Given the description of an element on the screen output the (x, y) to click on. 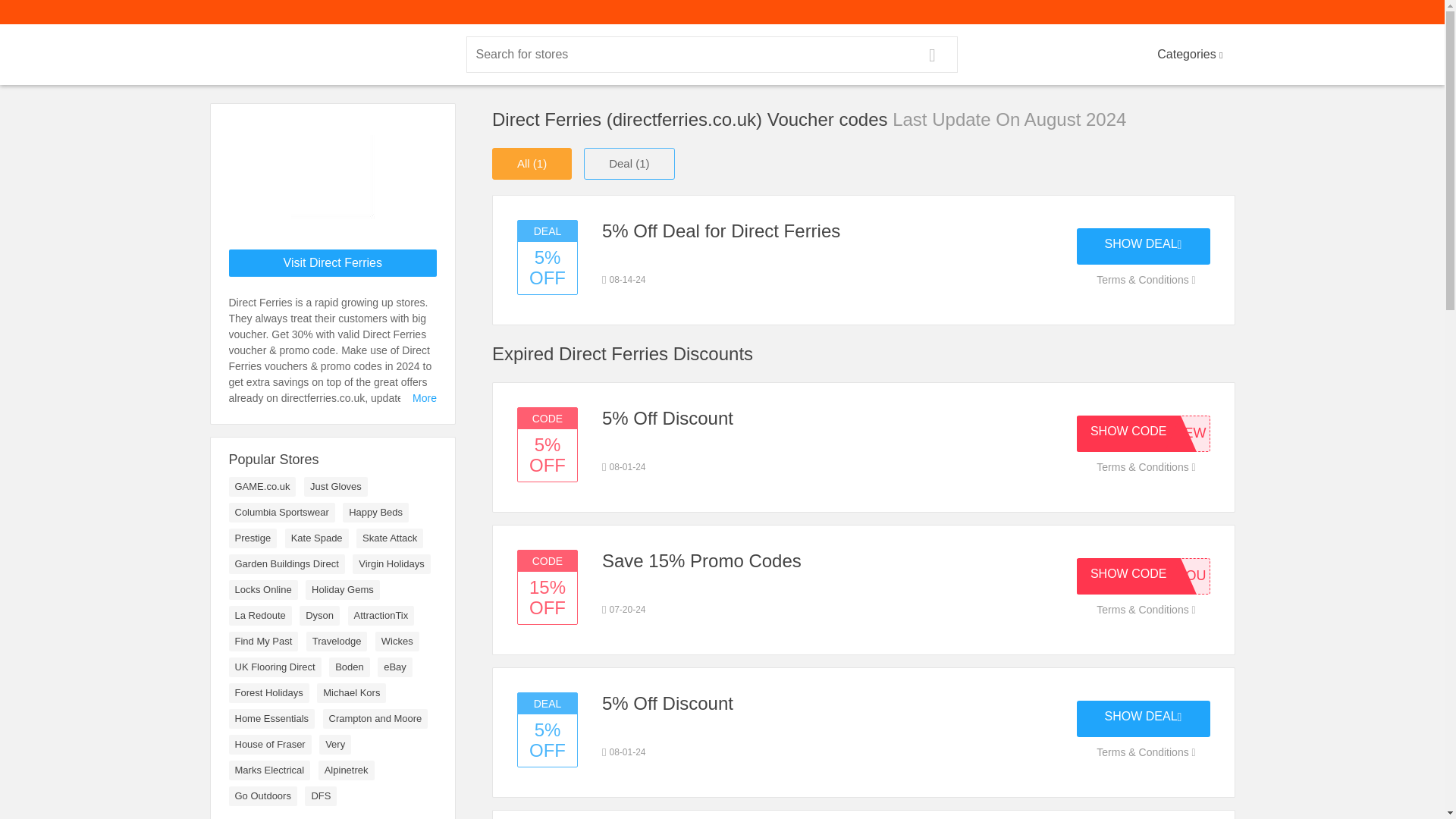
Prestige (253, 537)
Skate Attack (389, 537)
Dyson (319, 615)
Categories (1189, 54)
Holiday Gems (342, 589)
Happy Beds (375, 512)
expires soon (624, 609)
La Redoute (260, 615)
Virgin Holidays (390, 564)
expires soon (624, 279)
Columbia Sportswear (281, 512)
Kate Spade (317, 537)
Locks Online (263, 589)
Garden Buildings Direct (286, 564)
Just Gloves (336, 486)
